Given the description of an element on the screen output the (x, y) to click on. 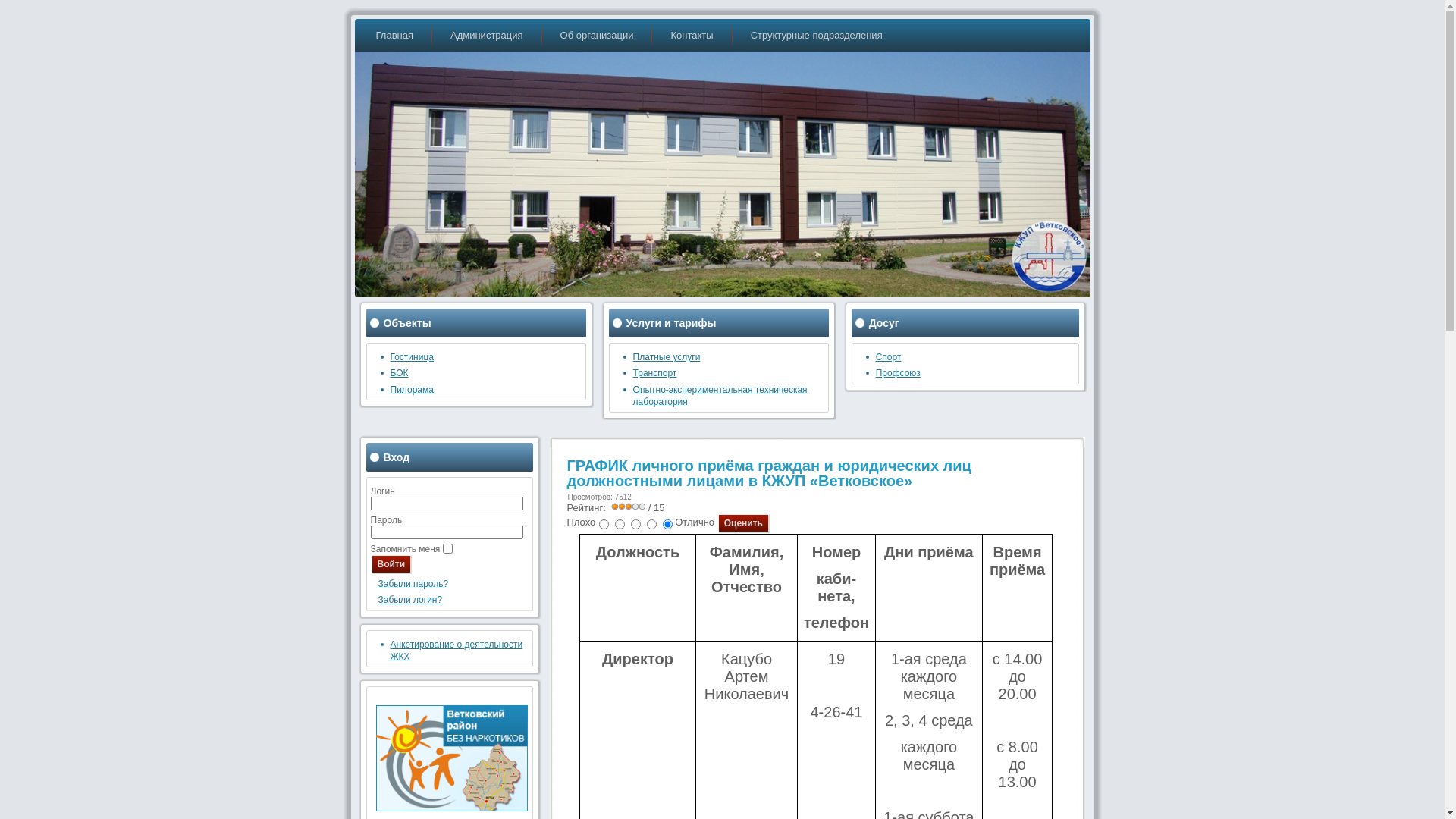
http://www.joomla3x.ru/joomla3-templates.html Element type: text (766, 438)
